Given the description of an element on the screen output the (x, y) to click on. 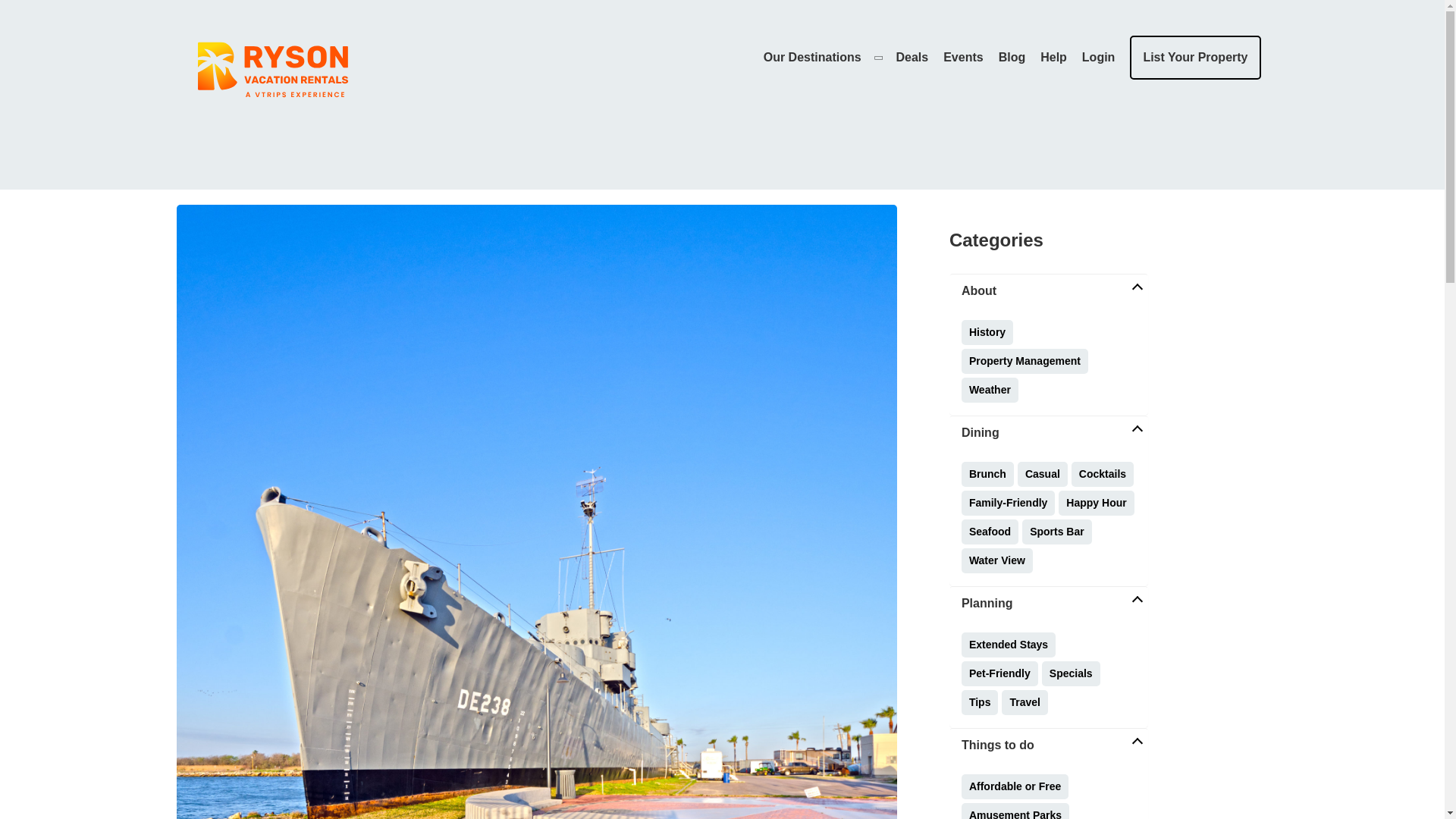
Pet-Friendly (999, 673)
Property Management (1023, 360)
Sports Bar (1057, 531)
Seafood (988, 531)
Amusement Parks (1014, 811)
Tips (979, 702)
Happy Hour (1096, 502)
History (986, 332)
Blog (1012, 57)
Help (1054, 57)
